Given the description of an element on the screen output the (x, y) to click on. 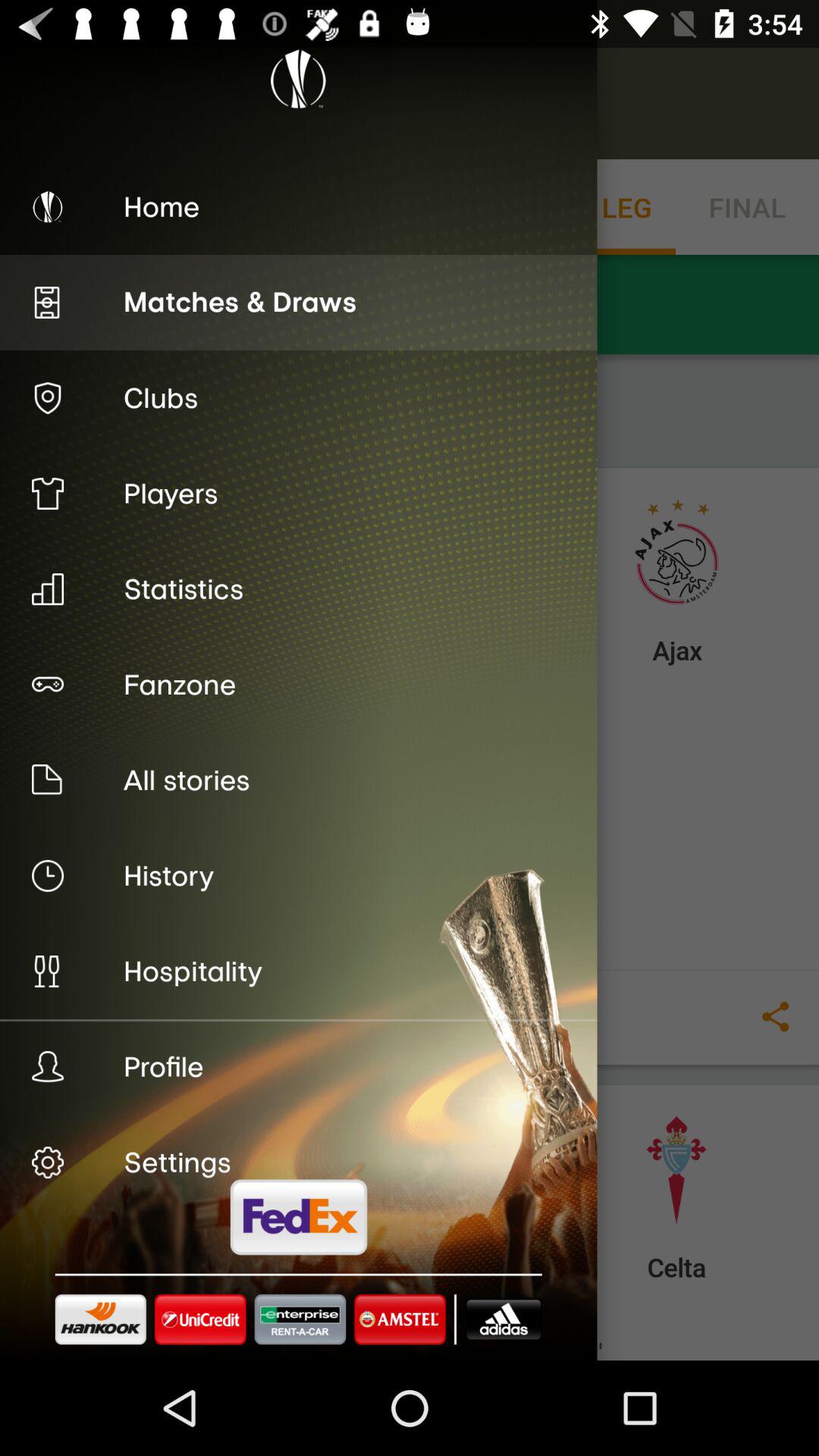
click on the 3rd logo at the bottom of the page from left side (306, 1332)
